Given the description of an element on the screen output the (x, y) to click on. 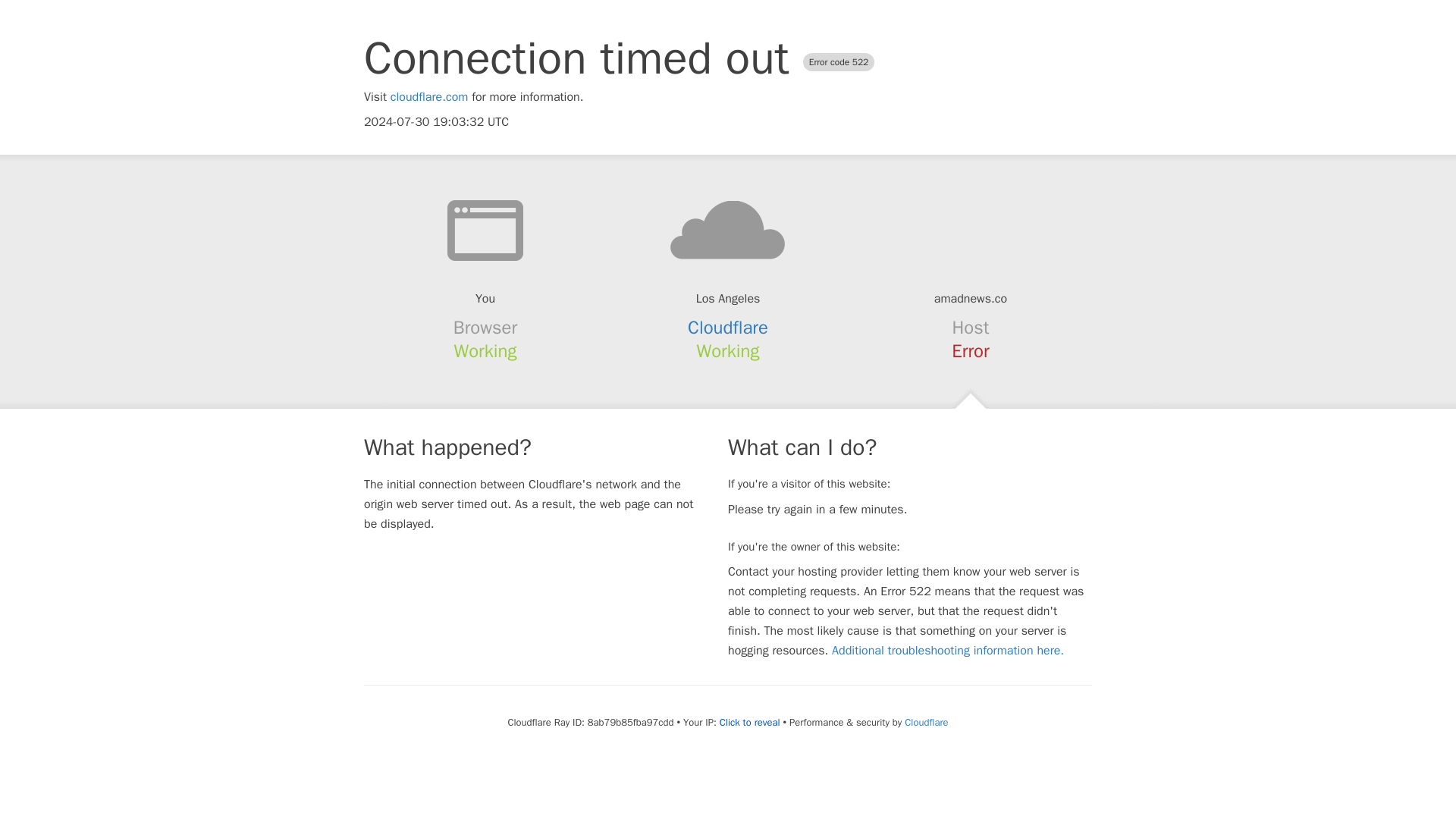
cloudflare.com (429, 96)
Additional troubleshooting information here. (947, 650)
Cloudflare (925, 721)
Click to reveal (749, 722)
Cloudflare (727, 327)
